Given the description of an element on the screen output the (x, y) to click on. 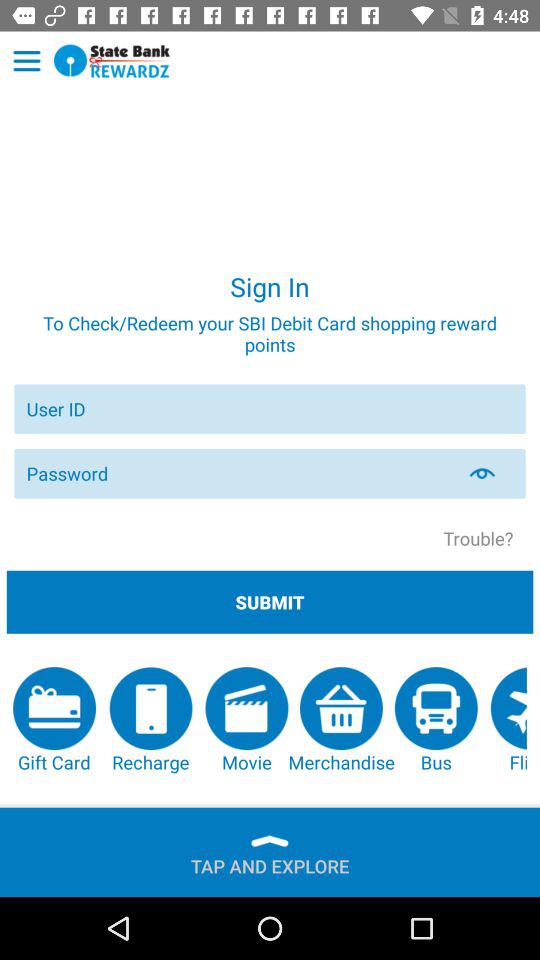
add user id (269, 408)
